Given the description of an element on the screen output the (x, y) to click on. 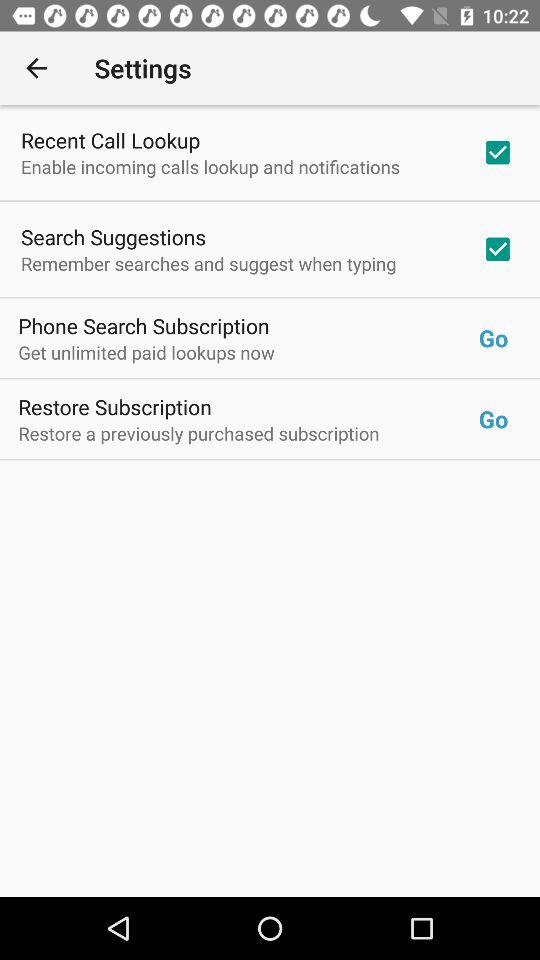
press the icon above the restore subscription icon (248, 352)
